Given the description of an element on the screen output the (x, y) to click on. 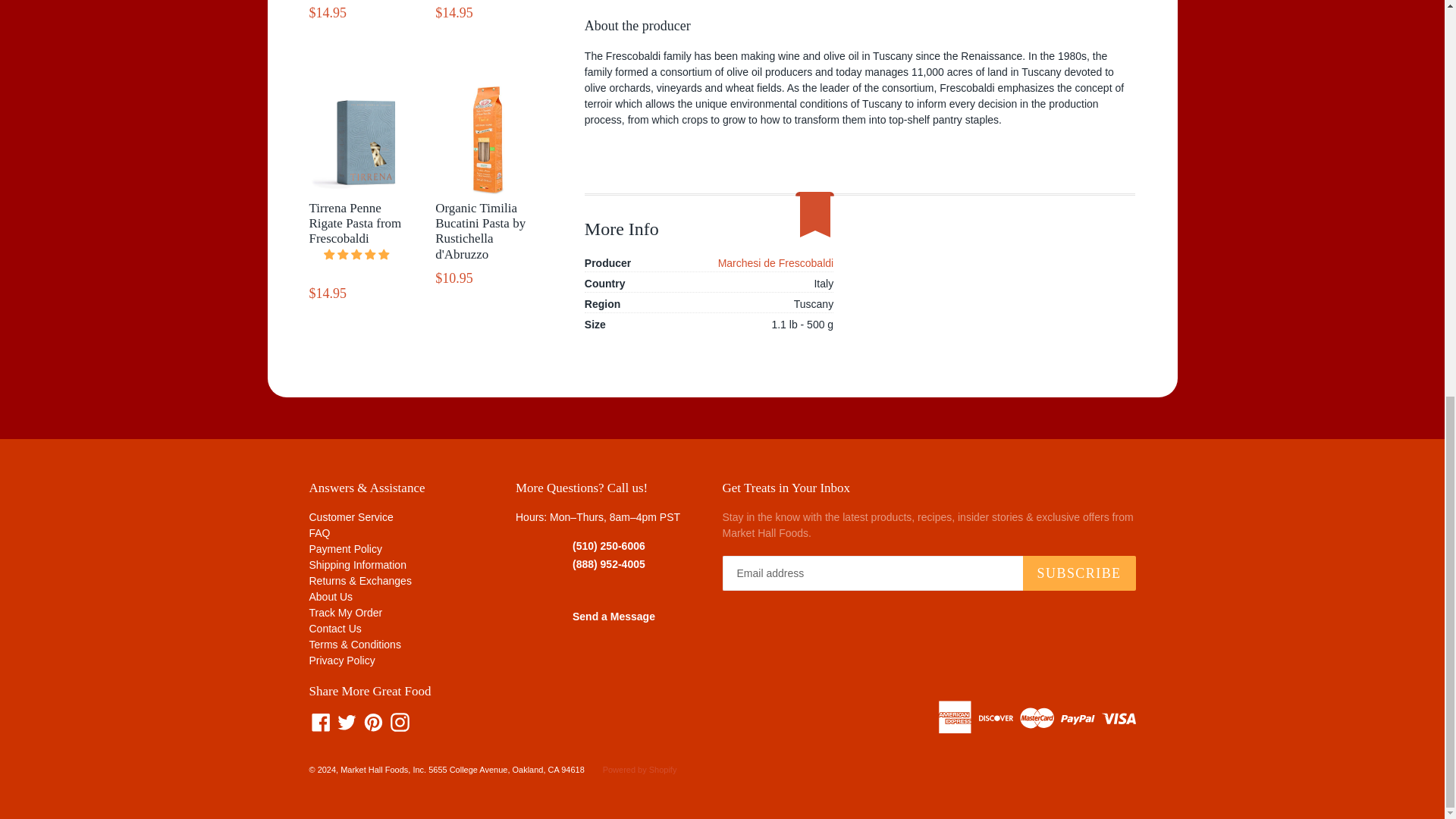
Market Hall Foods on Twitter (346, 722)
Market Hall Foods on Instagram (400, 722)
Market Hall Foods on Facebook (320, 722)
Market Hall Foods on Pinterest (373, 722)
